Given the description of an element on the screen output the (x, y) to click on. 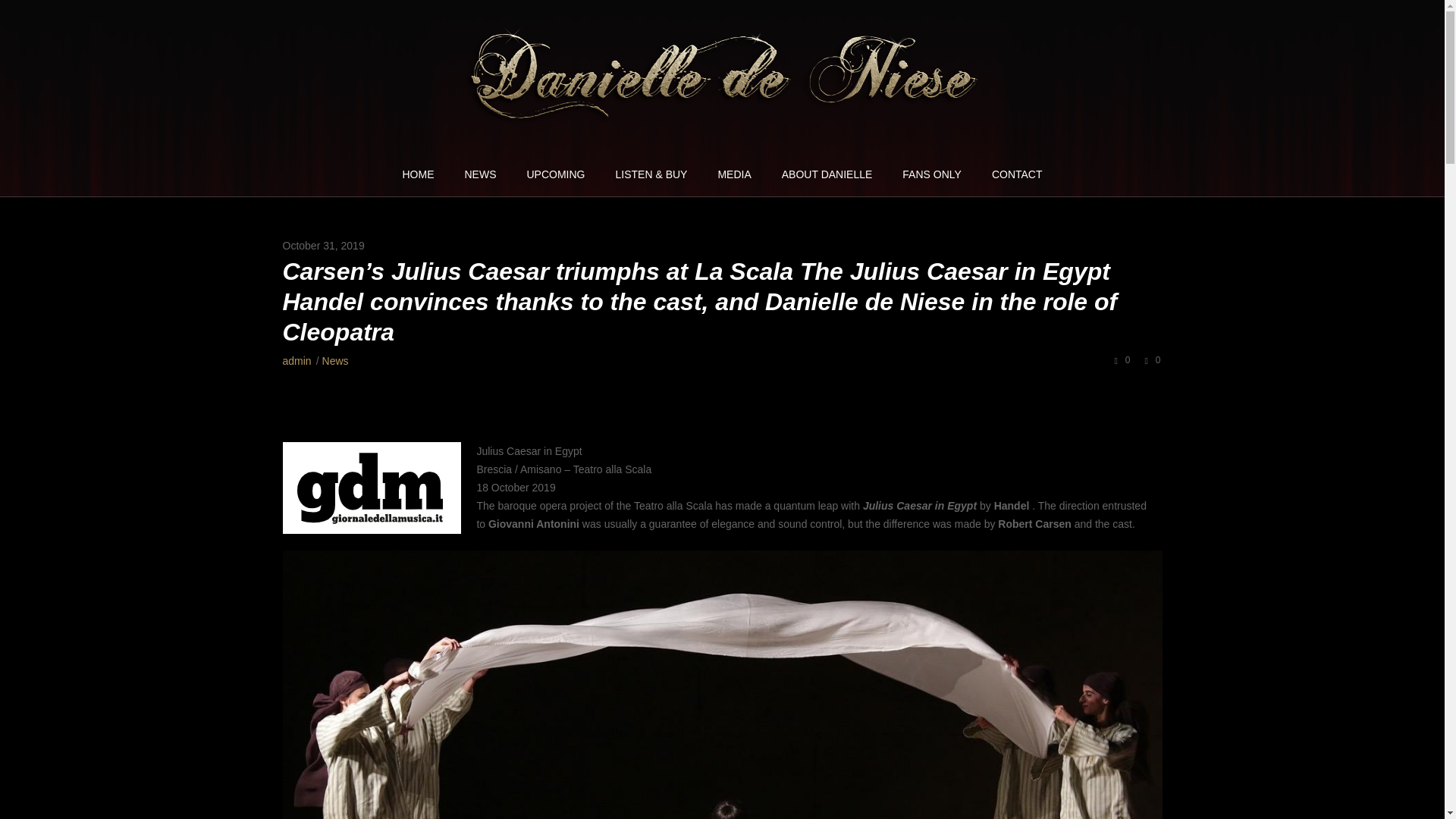
Posts by admin (296, 360)
October 31, 2019 (323, 245)
News (335, 360)
UPCOMING (555, 173)
MEDIA (733, 173)
admin (296, 360)
0 (1150, 359)
0 (1120, 359)
HOME (417, 173)
NEWS (479, 173)
